Given the description of an element on the screen output the (x, y) to click on. 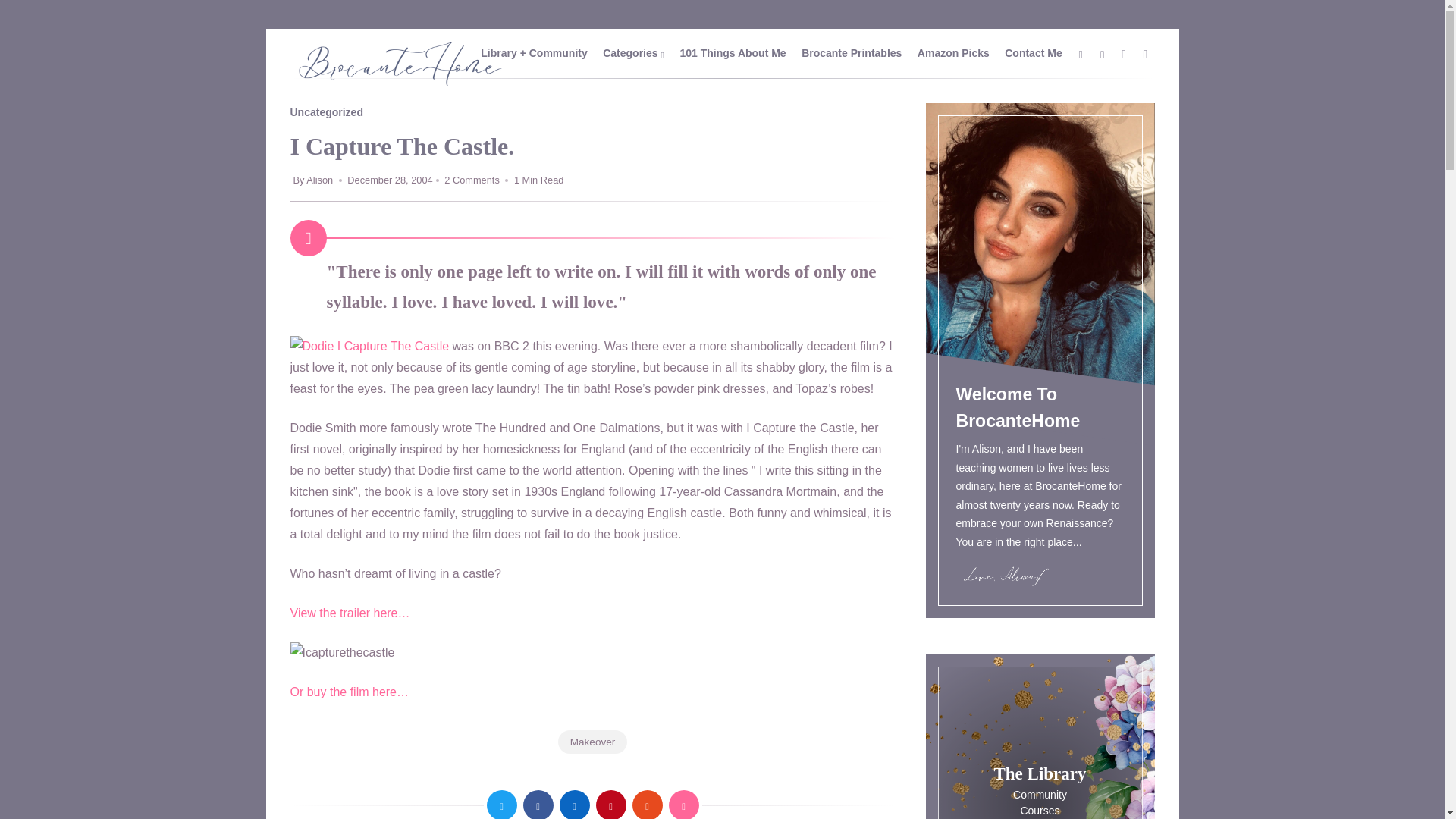
Makeover (592, 742)
Amazon Picks (953, 52)
Share on Facebook (537, 804)
Brocantehome (398, 84)
Categories (627, 52)
Pin this! (610, 804)
Uncategorized (325, 111)
I Capture The Castle (392, 345)
Alison (319, 179)
Contact Me (1032, 52)
Brocante Printables (850, 52)
Tweet This! (501, 804)
101 Things About Me (732, 52)
2 Comments (471, 179)
Share on LinkedIn (574, 804)
